Given the description of an element on the screen output the (x, y) to click on. 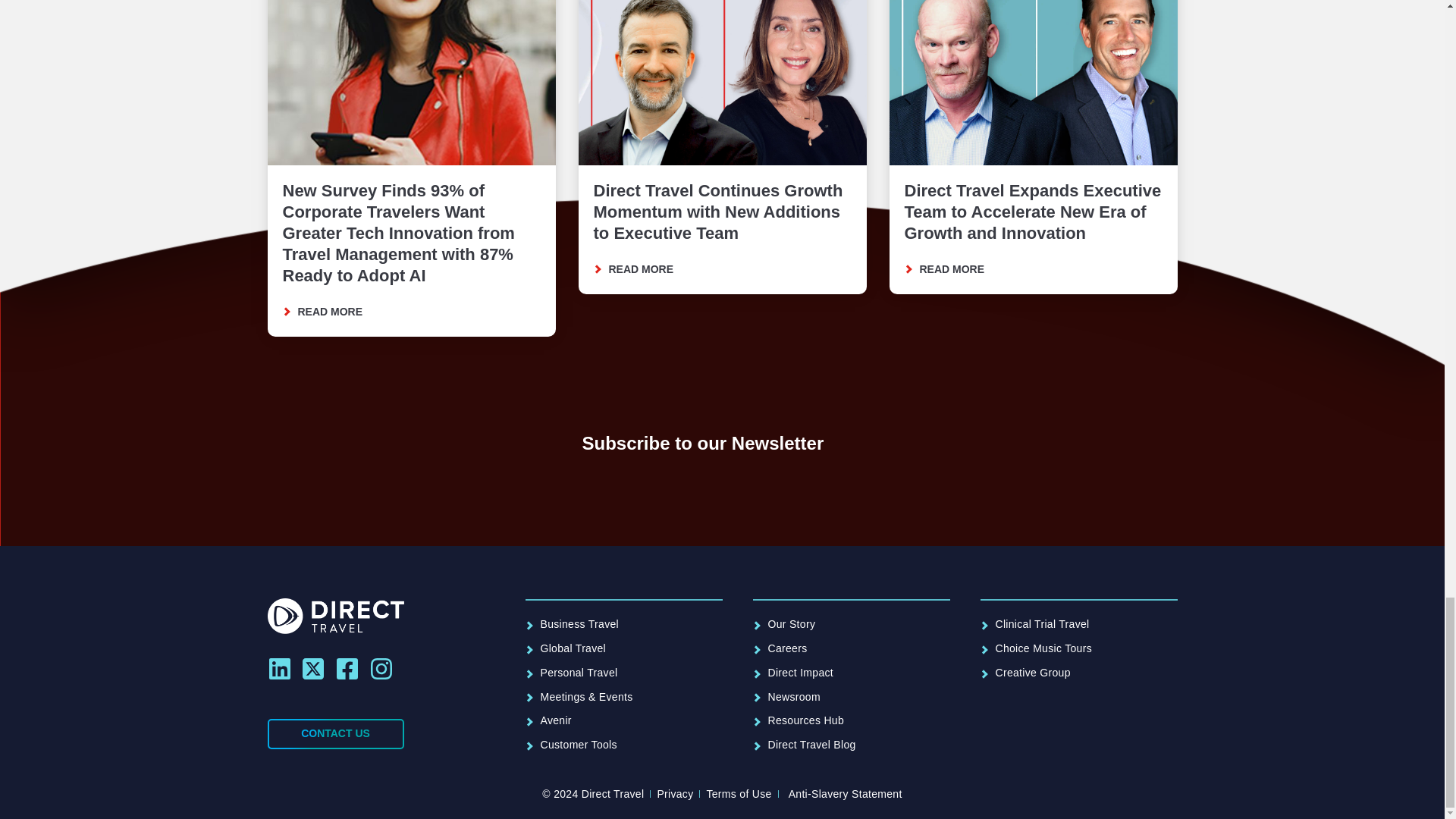
READ MORE (951, 269)
READ MORE (329, 311)
READ MORE (640, 269)
